Given the description of an element on the screen output the (x, y) to click on. 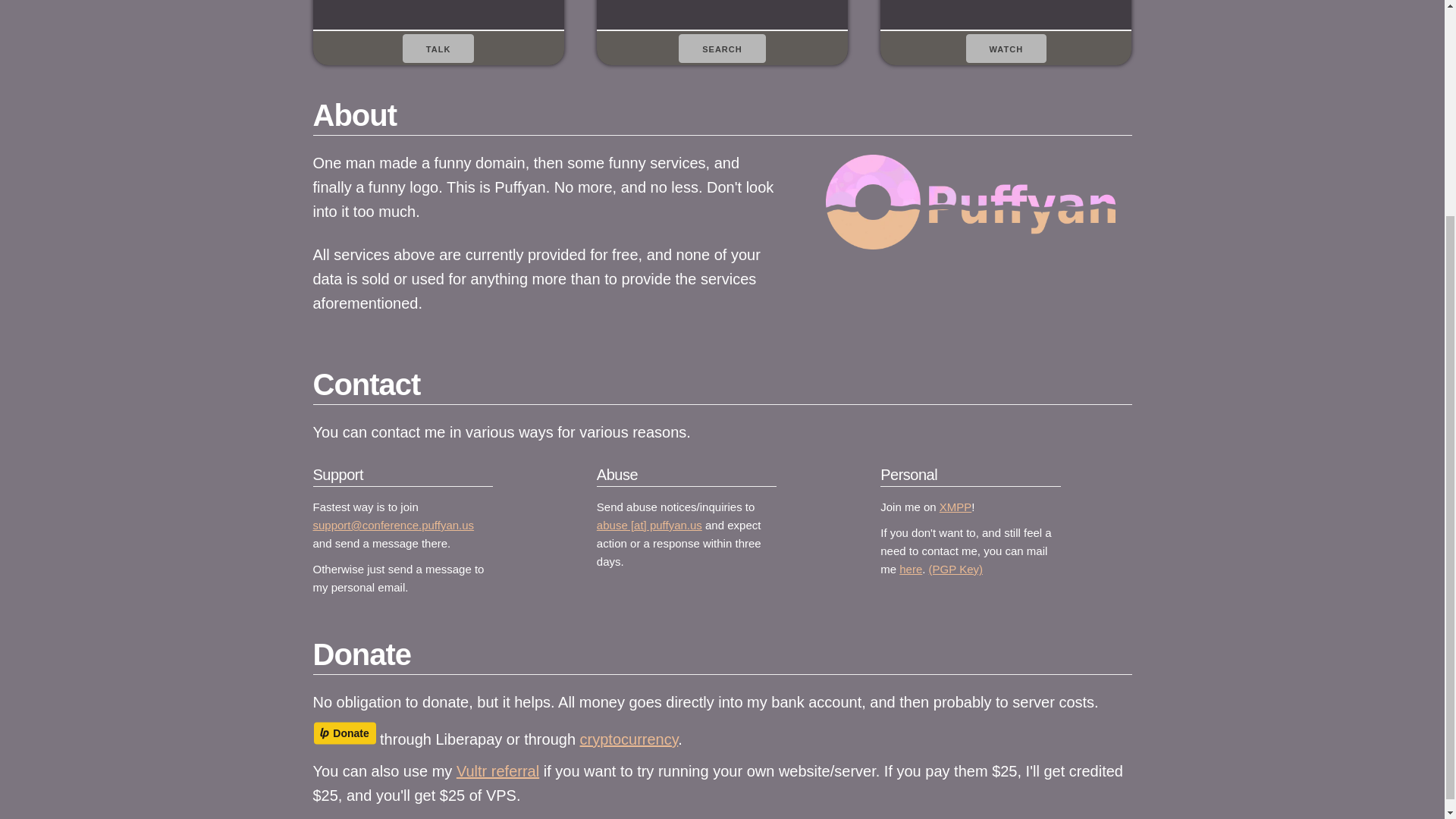
SEARCH (721, 47)
WATCH (1006, 47)
XMPP (955, 506)
cryptocurrency (628, 739)
Vultr referral (497, 770)
here (910, 568)
TALK (438, 47)
